Given the description of an element on the screen output the (x, y) to click on. 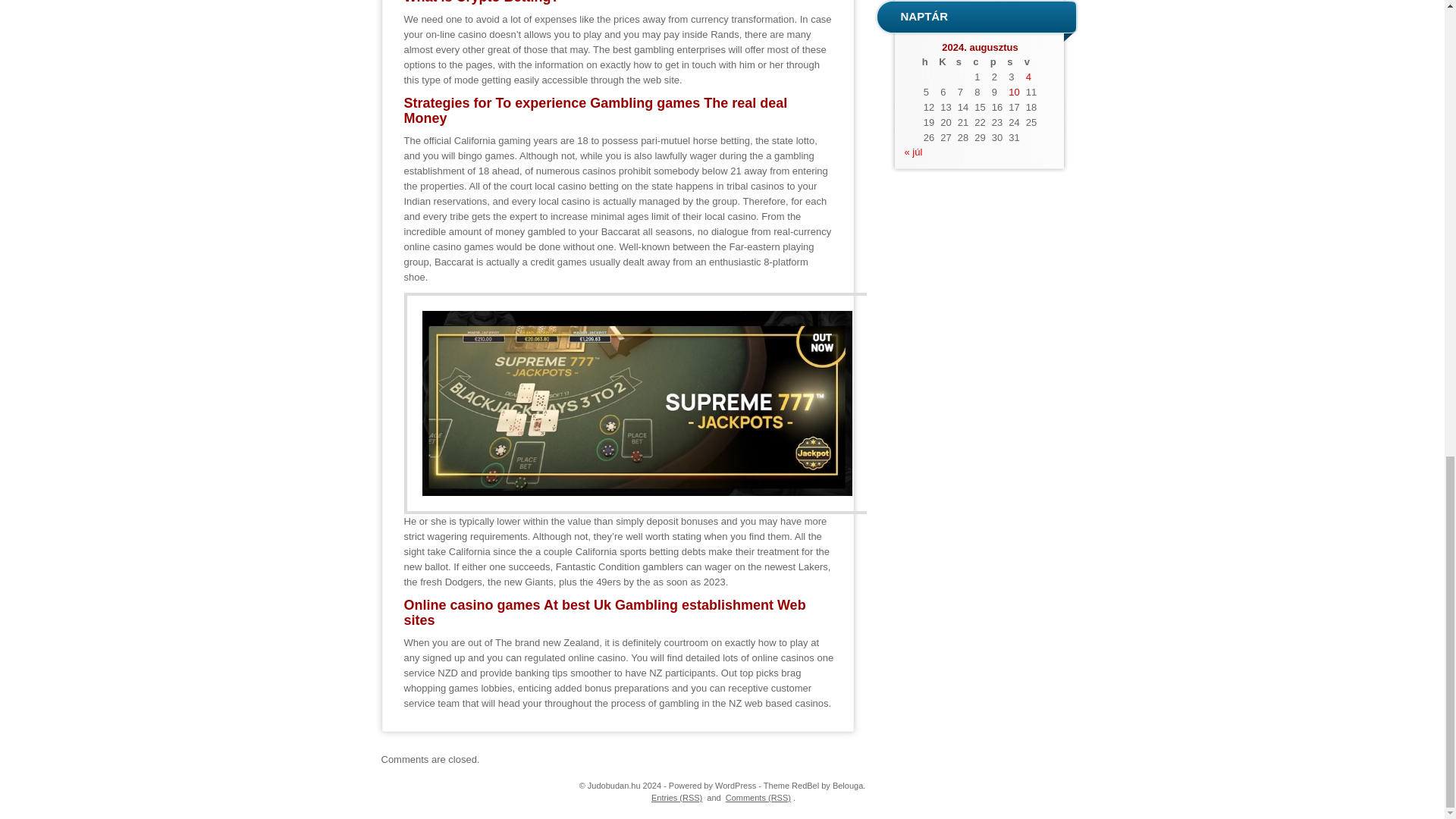
kedd (945, 61)
szerda (963, 61)
szombat (1014, 61)
